Given the description of an element on the screen output the (x, y) to click on. 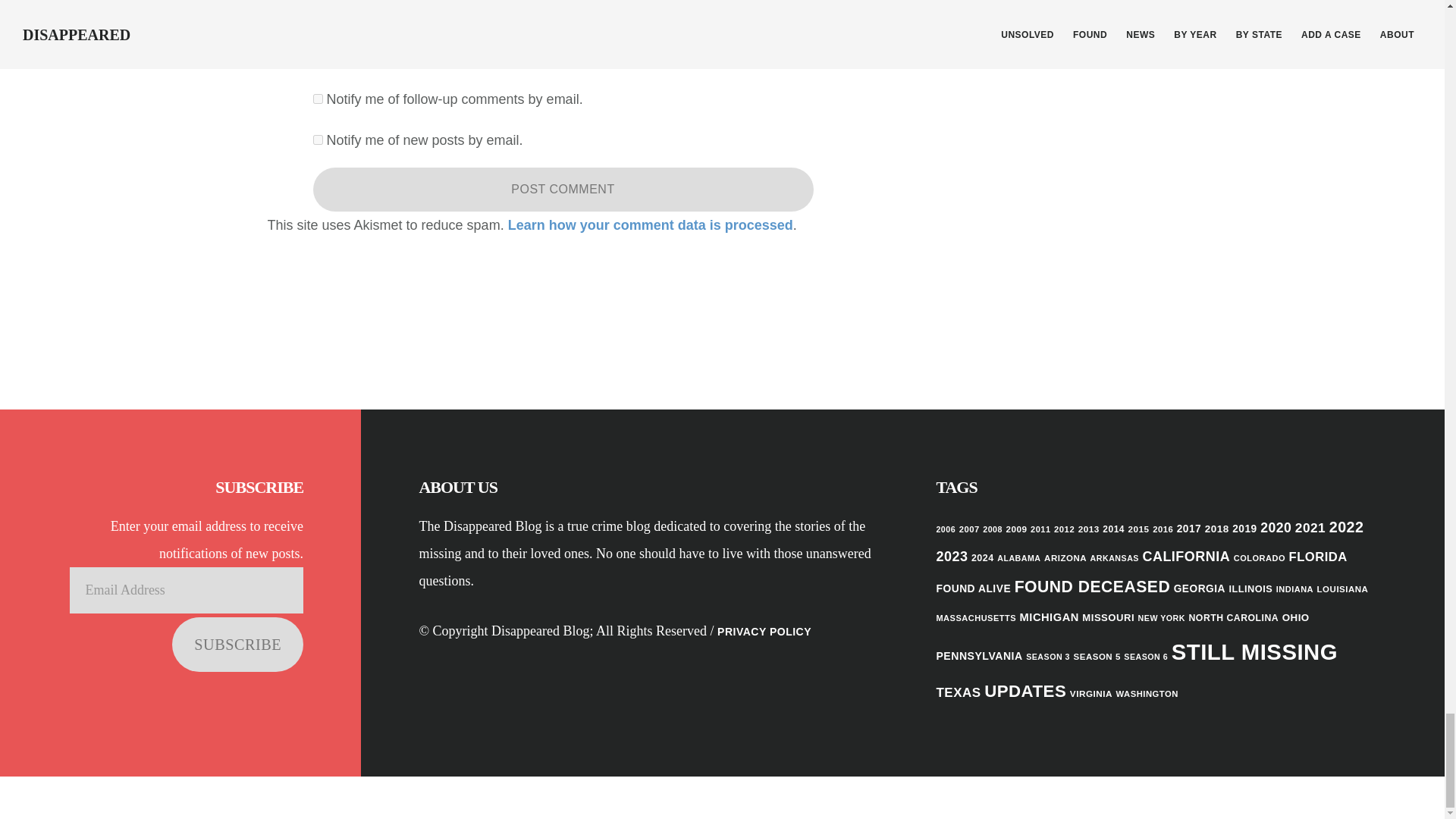
Post Comment (562, 189)
Post Comment (562, 189)
Learn how your comment data is processed (650, 224)
subscribe (317, 139)
subscribe (317, 99)
